Given the description of an element on the screen output the (x, y) to click on. 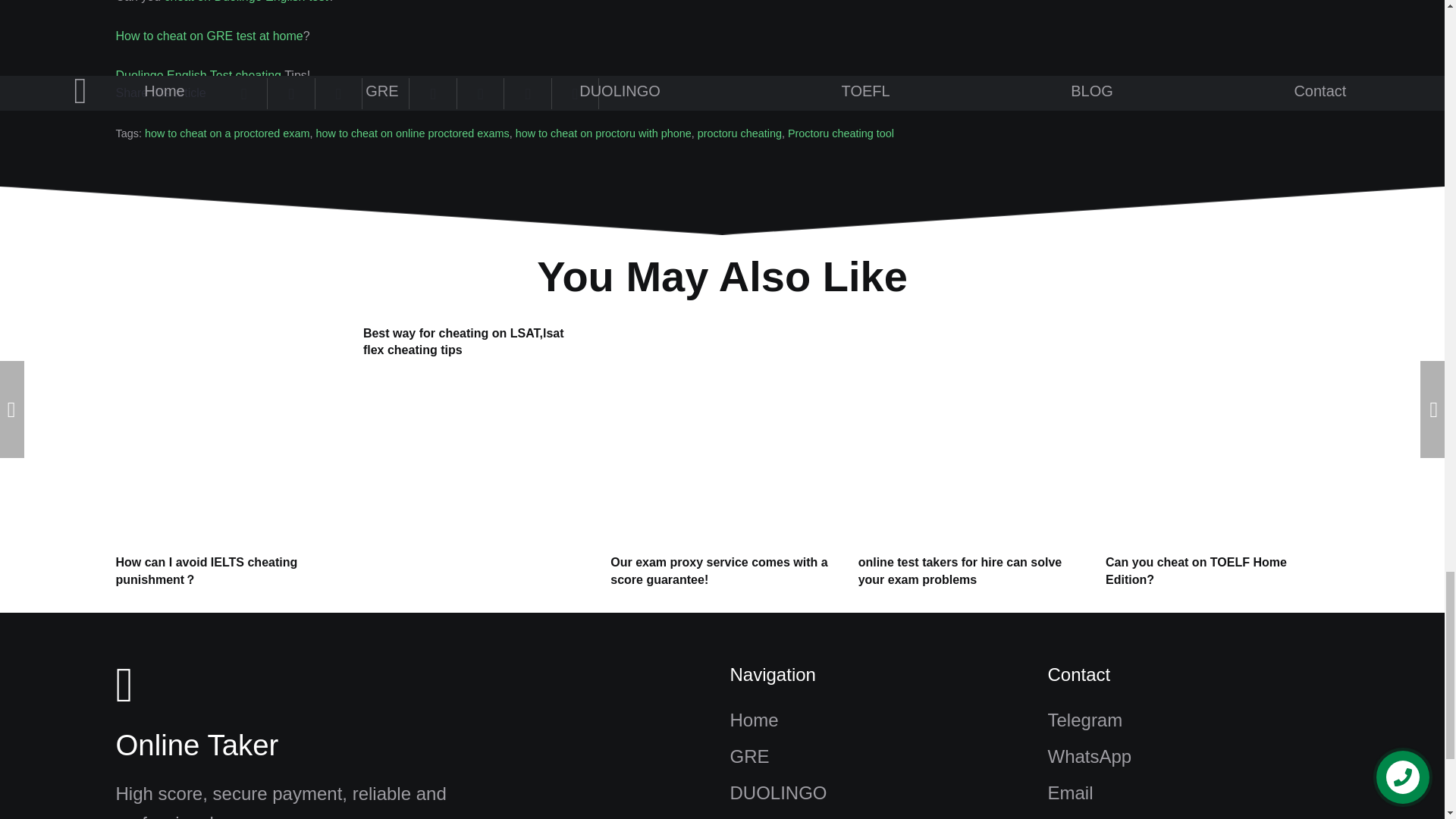
Proctoru cheating tool (840, 133)
how to cheat on a proctored exam (227, 133)
cheat on Duolingo English test (246, 1)
how to cheat on proctoru with phone (603, 133)
proctoru cheating (739, 133)
How to cheat on GRE test at home (208, 35)
Duolingo English Test cheating (198, 74)
how to cheat on online proctored exams (411, 133)
